Given the description of an element on the screen output the (x, y) to click on. 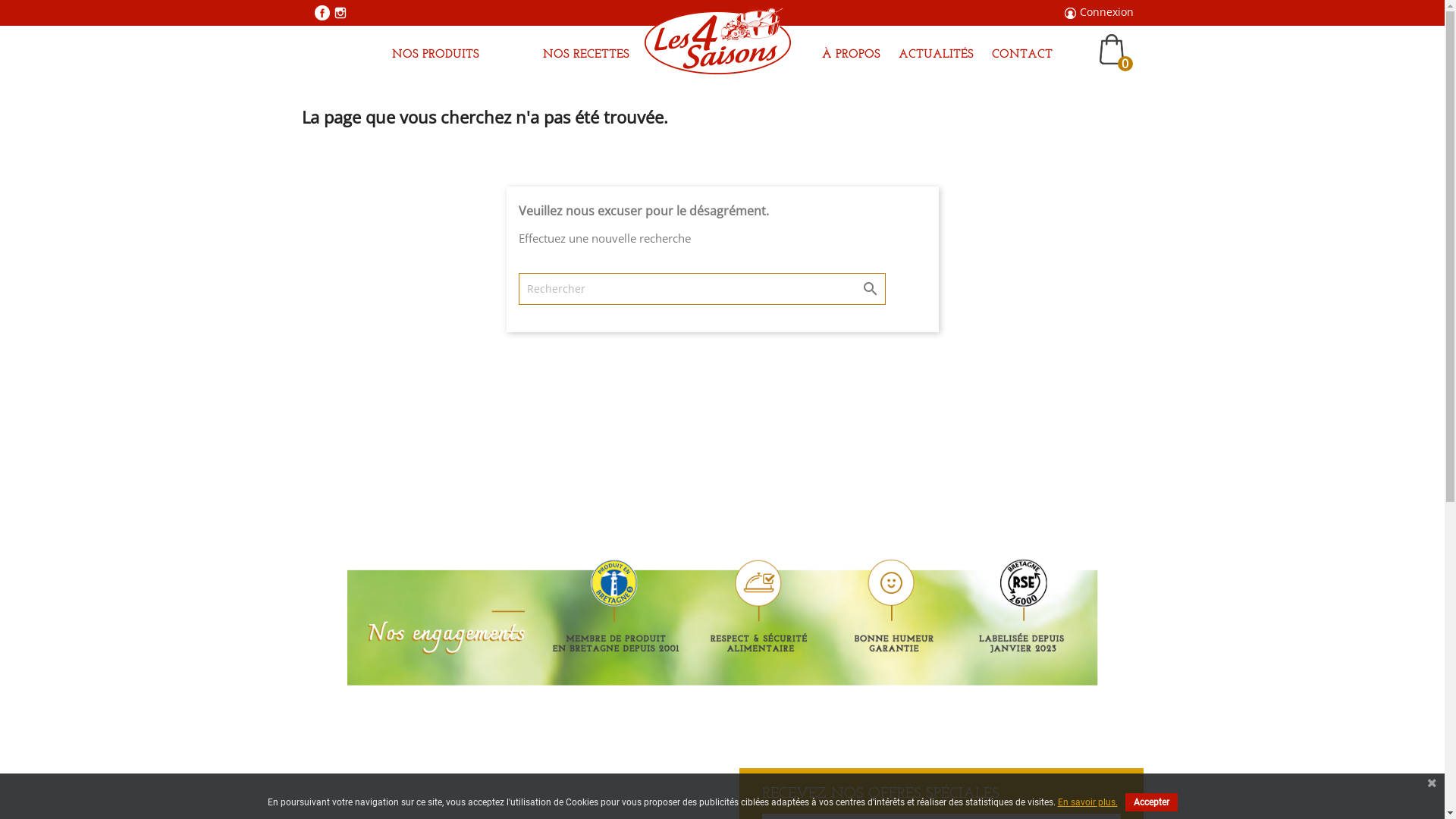
Connexion Element type: text (1106, 11)
Instagram Element type: text (339, 12)
CONTACT Element type: text (1022, 55)
NOS PRODUITS Element type: text (435, 55)
Accepter Element type: text (1151, 802)
NOS RECETTES Element type: text (586, 55)
En savoir plus. Element type: text (1087, 801)
Facebook Element type: text (321, 12)
